Given the description of an element on the screen output the (x, y) to click on. 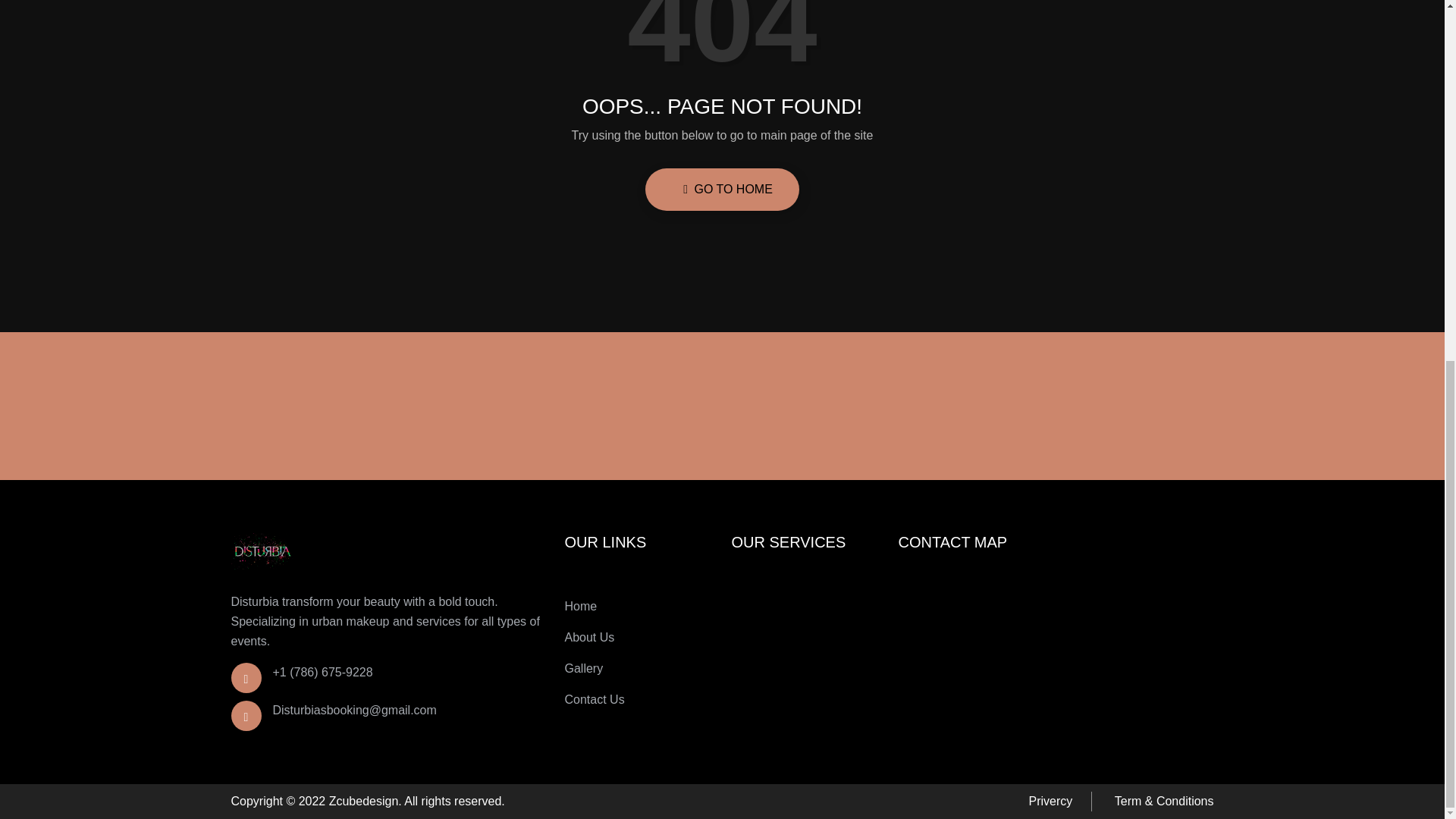
About Us (589, 637)
  GO TO HOME (722, 189)
Gallery (583, 668)
Contact Us (594, 700)
Home (580, 606)
Privercy (1051, 801)
